Given the description of an element on the screen output the (x, y) to click on. 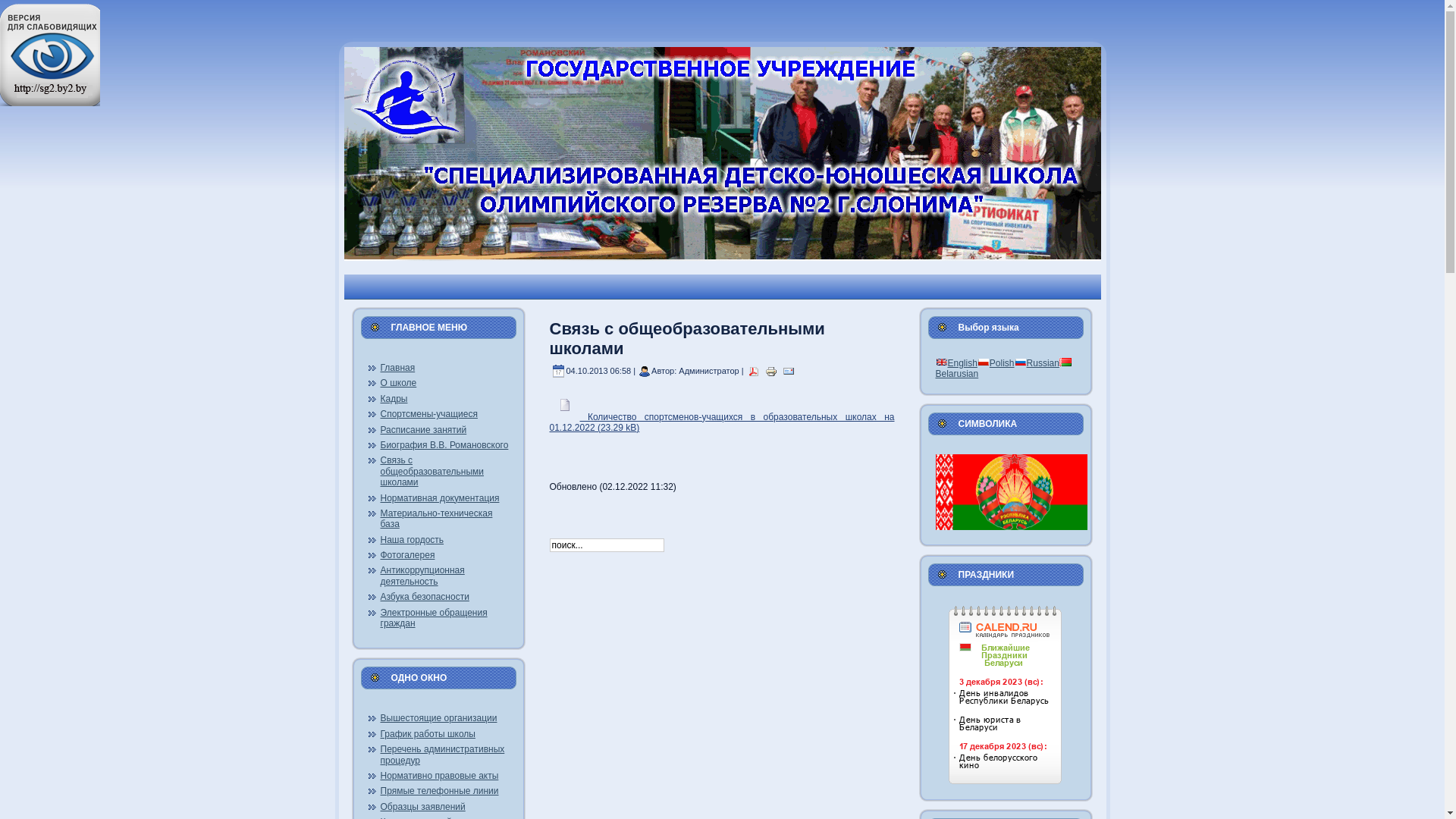
PDF Element type: hover (753, 370)
E-mail Element type: hover (788, 370)
English Element type: text (956, 362)
Polish Element type: text (995, 362)
Russian Element type: text (1036, 362)
Belarusian Element type: text (1003, 368)
